Given the description of an element on the screen output the (x, y) to click on. 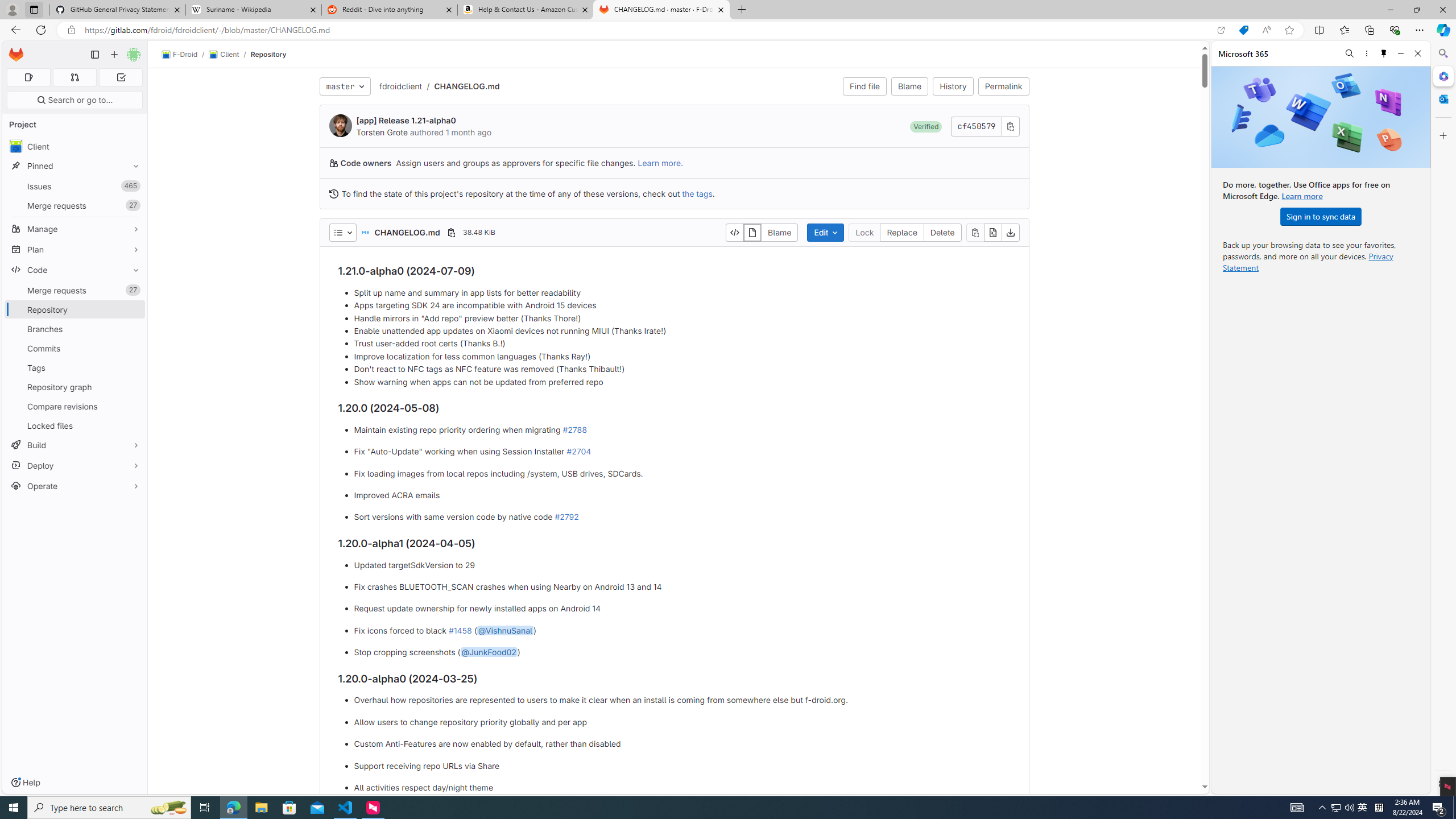
AutomationID: dropdown-toggle-btn-50 (342, 232)
Replace (901, 232)
Improved ACRA emails (681, 495)
Branches (74, 328)
Commits (74, 348)
Deploy (74, 465)
Open in app (1220, 29)
More options (1366, 53)
Client/ (229, 54)
Display source (734, 232)
Edit (825, 232)
Skip to main content (13, 49)
